Given the description of an element on the screen output the (x, y) to click on. 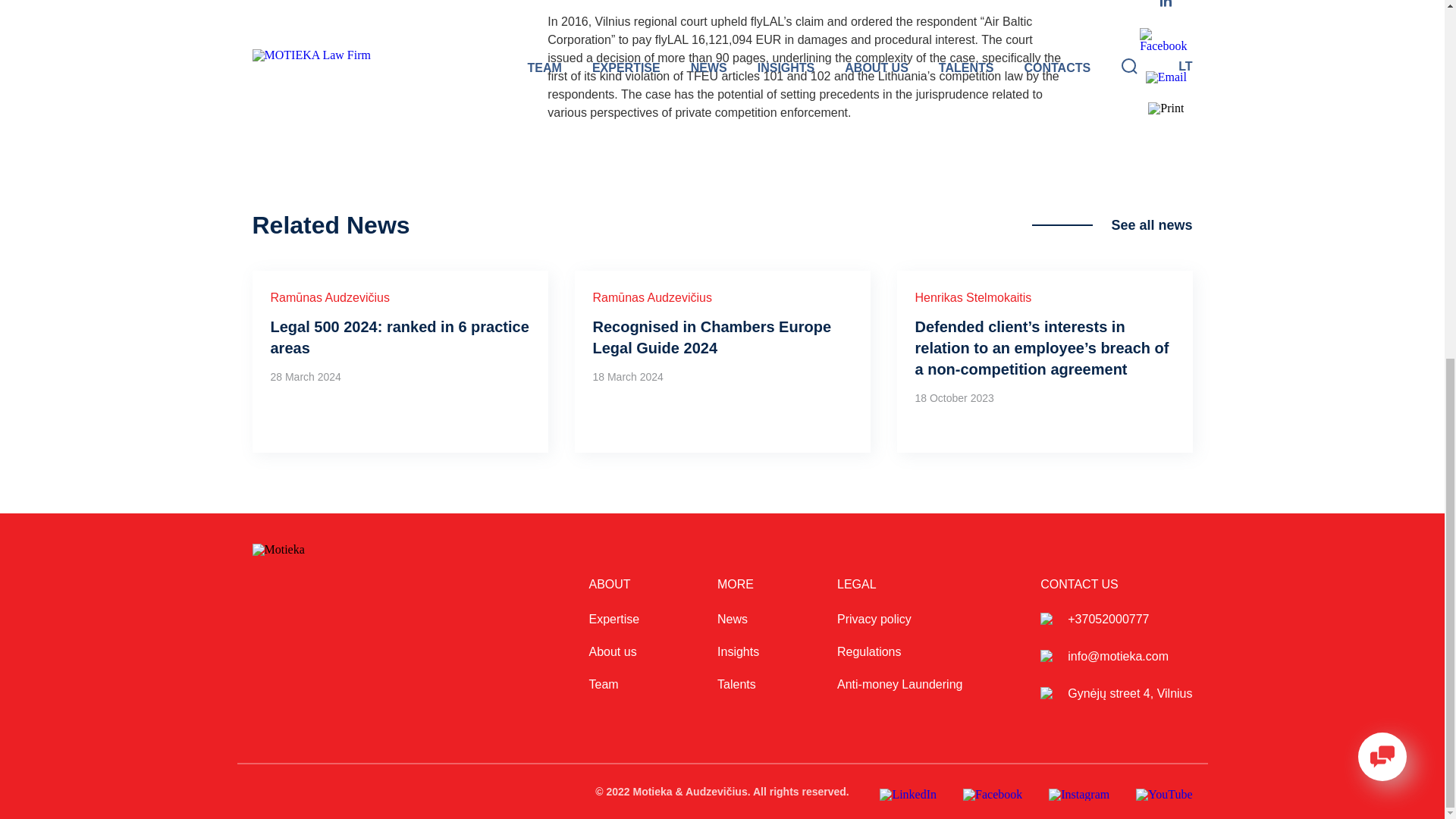
Expertise (613, 618)
Team (602, 684)
About us (612, 651)
News (732, 618)
See all news (1112, 225)
